Given the description of an element on the screen output the (x, y) to click on. 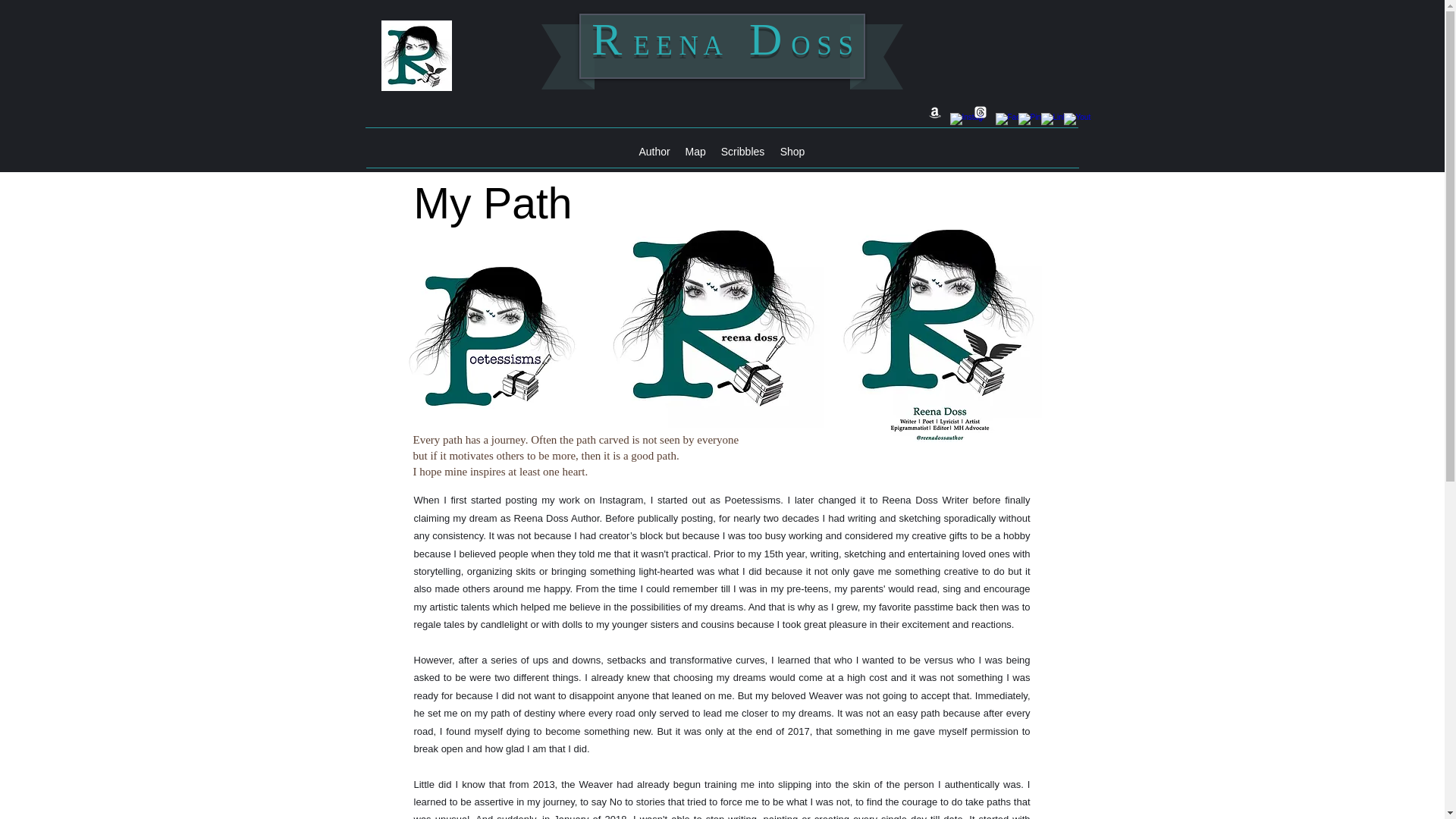
Shop (791, 151)
New Logo - Reena Doss Author.jpg (940, 327)
Scribbles (742, 151)
Author (653, 151)
Poetessisms.jpg (491, 337)
